Given the description of an element on the screen output the (x, y) to click on. 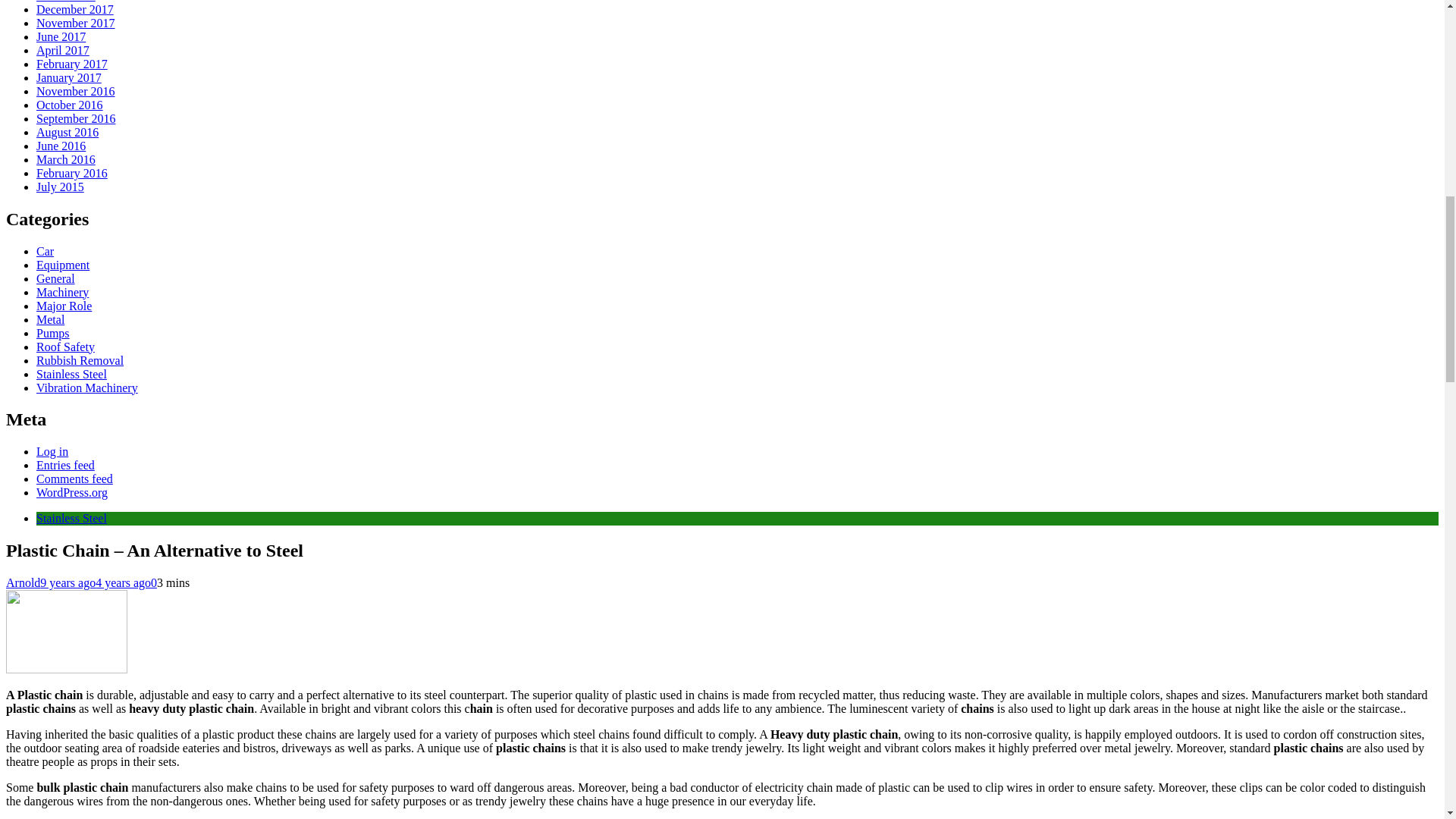
June 2017 (60, 36)
April 2017 (62, 50)
December 2017 (74, 9)
November 2017 (75, 22)
March 2022 (66, 1)
